Given the description of an element on the screen output the (x, y) to click on. 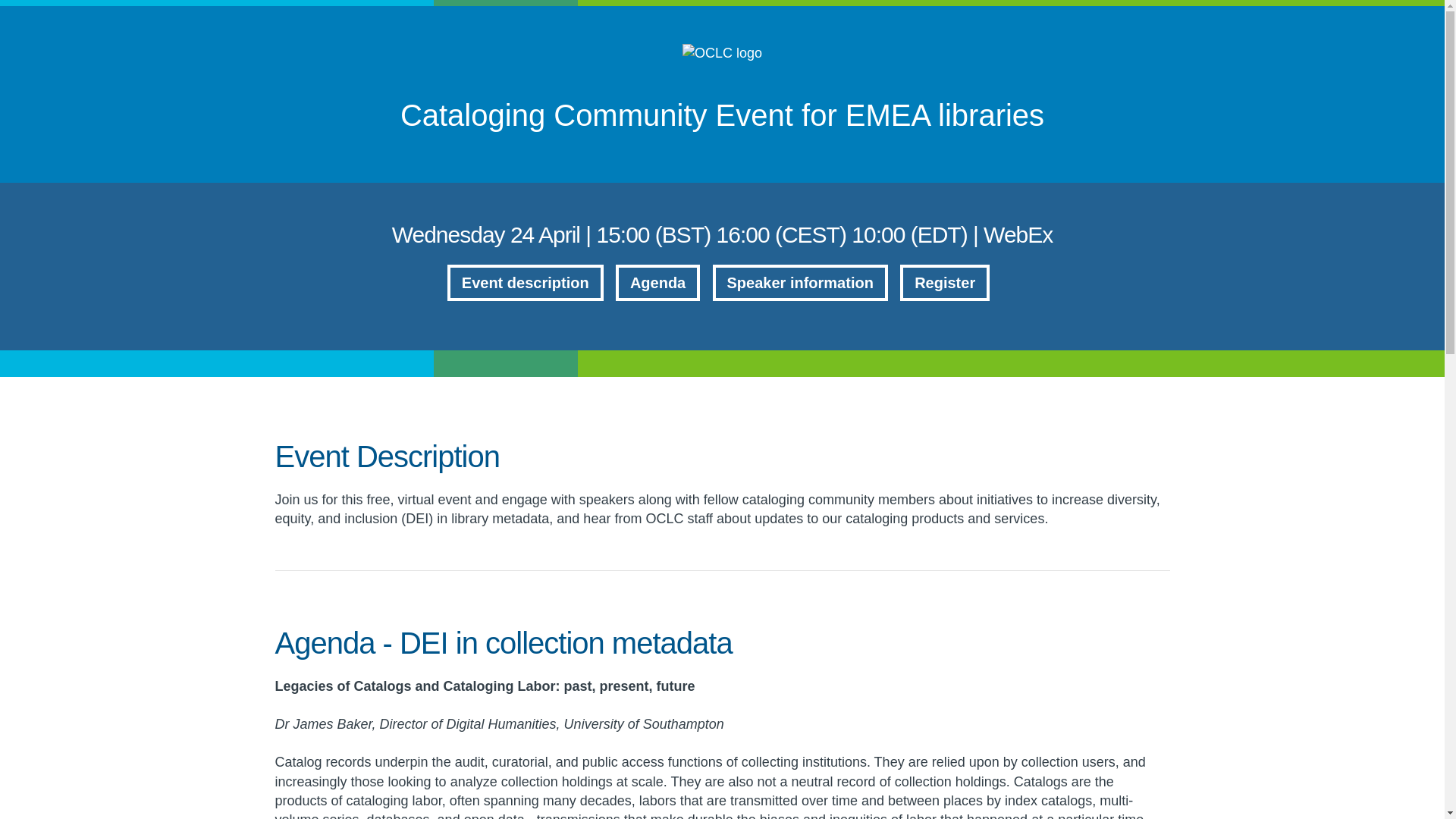
Event description (525, 282)
Register (944, 282)
Speaker information (800, 282)
Agenda (657, 282)
